Given the description of an element on the screen output the (x, y) to click on. 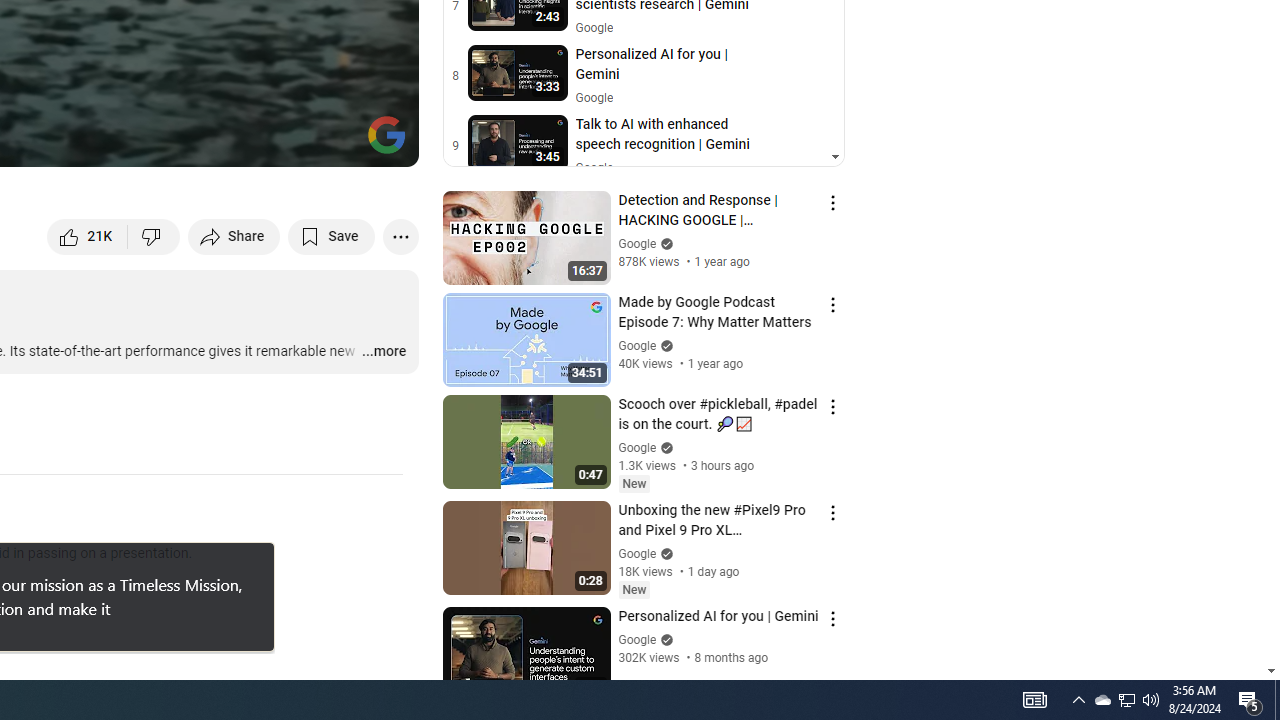
Dislike this video (154, 236)
Save to playlist (331, 236)
New (634, 590)
Full screen (f) (382, 142)
Theater mode (t) (333, 142)
Share (234, 236)
More actions (399, 236)
like this video along with 21,118 other people (88, 236)
Channel watermark (386, 134)
...more (382, 352)
